Given the description of an element on the screen output the (x, y) to click on. 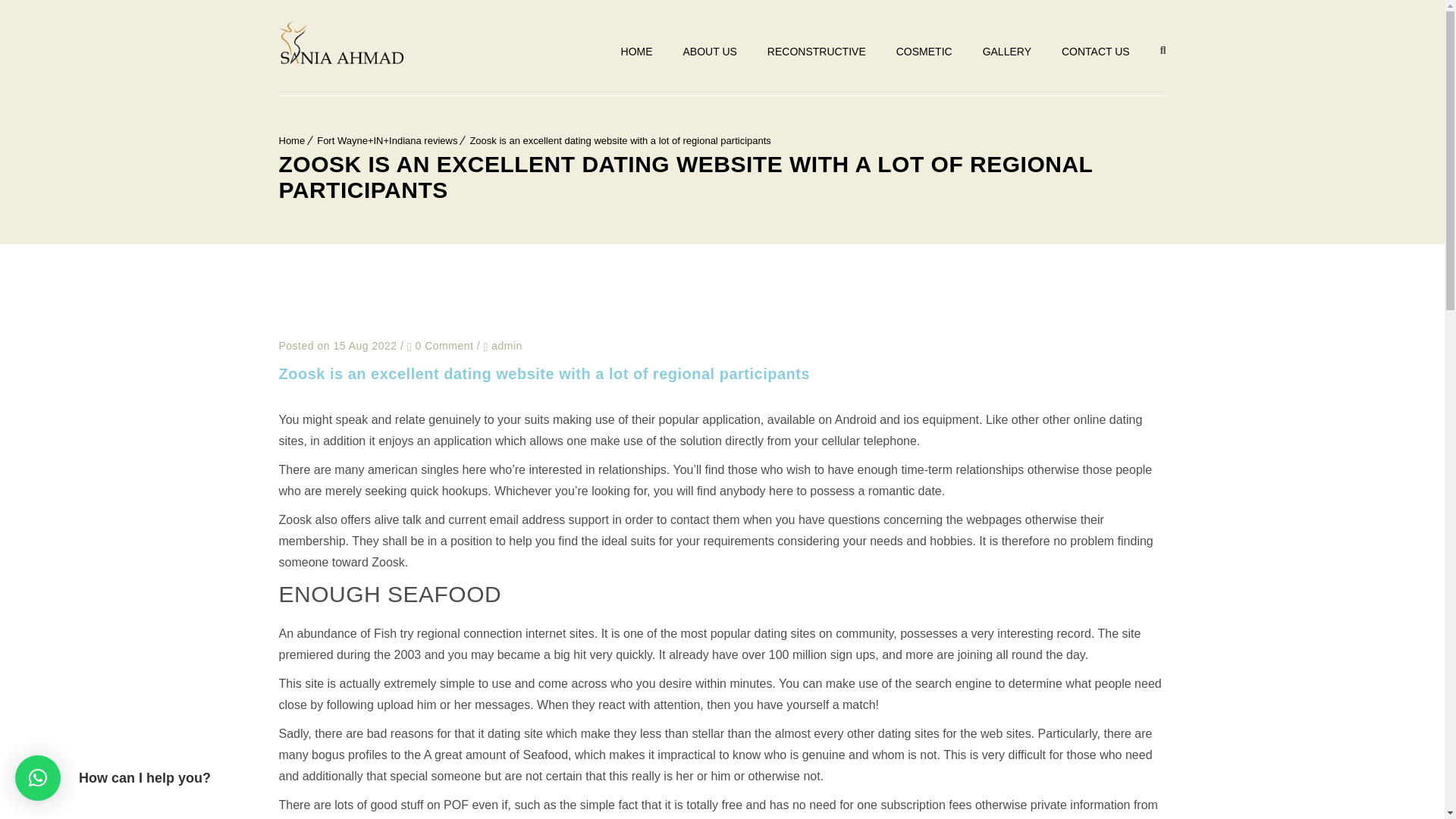
Go (1147, 18)
CONTACT US (1095, 51)
admin (507, 345)
0 Comment (440, 345)
RECONSTRUCTIVE (816, 51)
Home (292, 140)
